Given the description of an element on the screen output the (x, y) to click on. 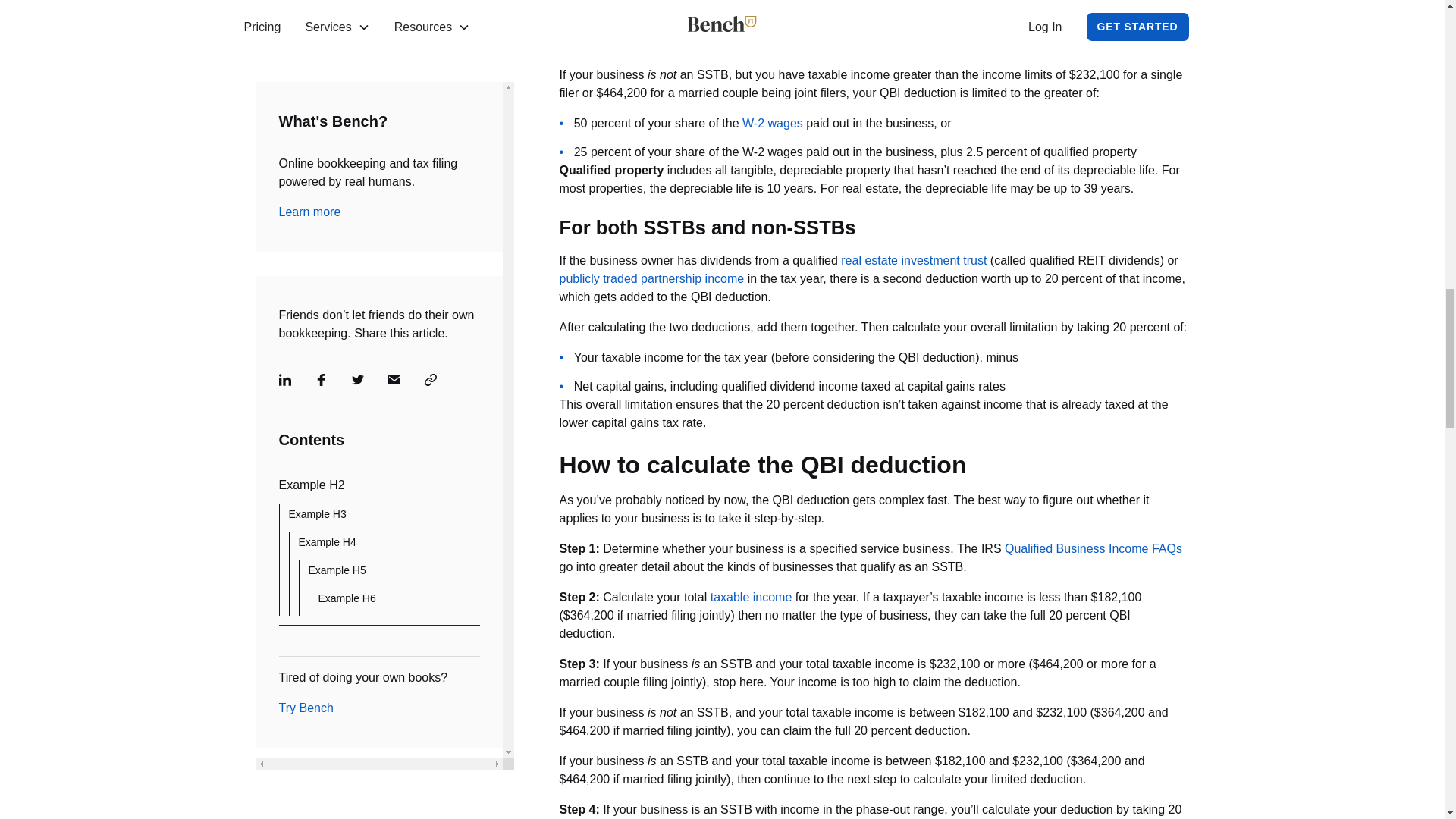
publicly traded partnership income (651, 278)
real estate investment trust (914, 259)
W-2 wages (772, 123)
Qualified Business Income FAQs (1093, 548)
taxable income (751, 596)
